Given the description of an element on the screen output the (x, y) to click on. 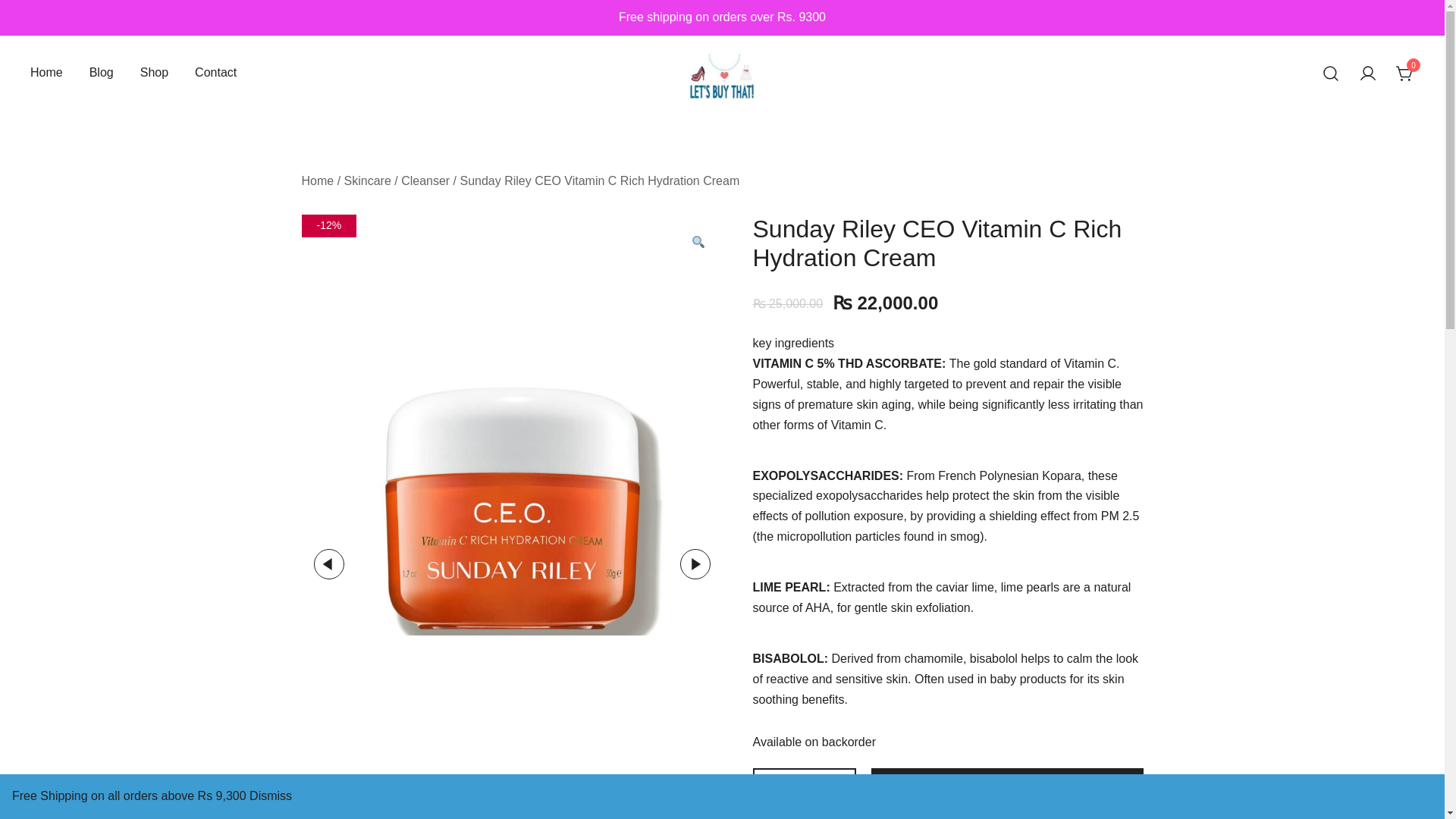
Home (317, 180)
Contact (215, 72)
Previous (328, 563)
Cleanser (425, 180)
View your shopping cart (1404, 72)
Next (694, 563)
Home (46, 72)
0 (1404, 72)
Your account (1367, 73)
Lets Buy That (662, 115)
0 (1404, 73)
Skincare (367, 180)
